Given the description of an element on the screen output the (x, y) to click on. 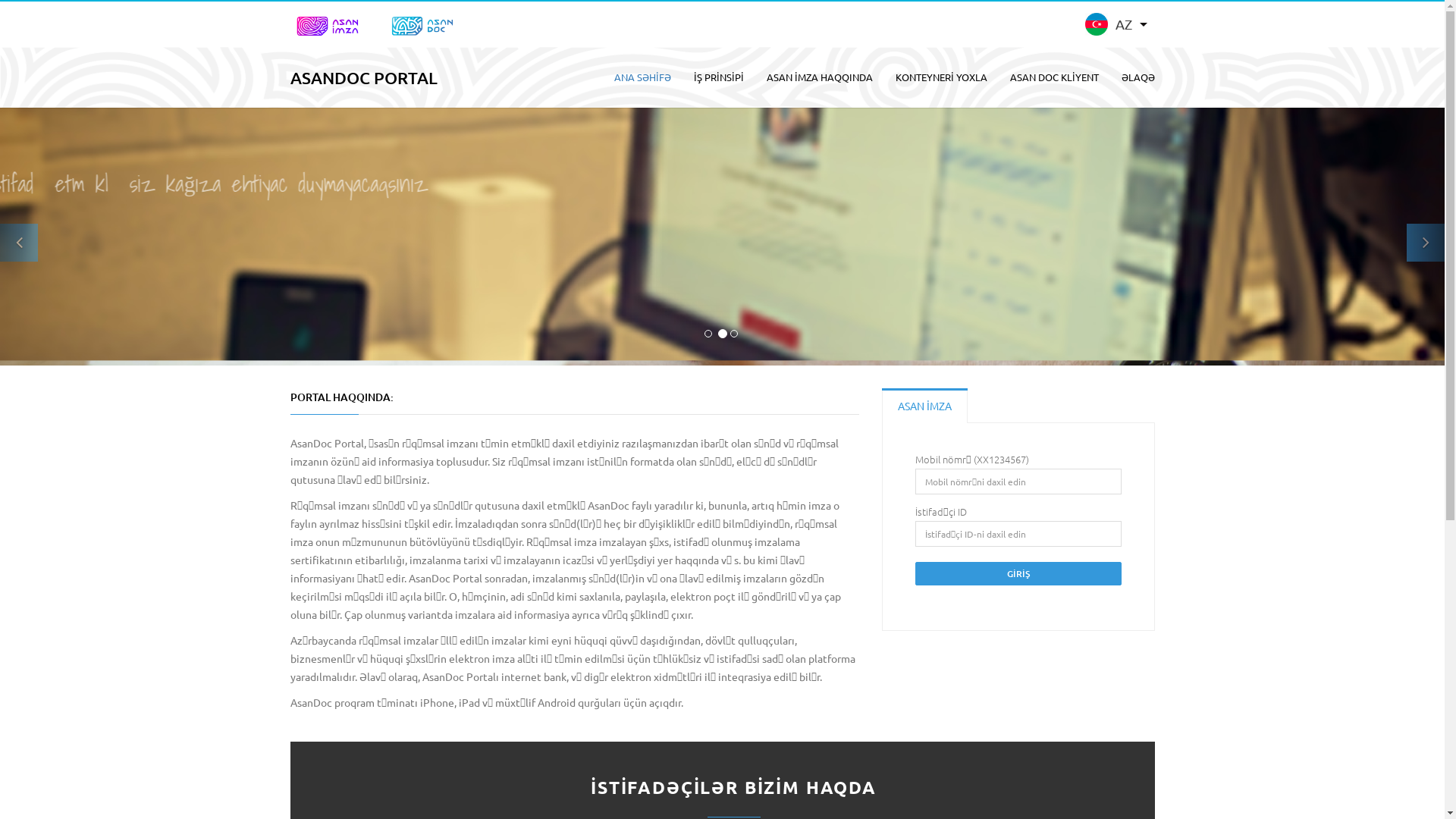
ASAN DOC KLIYENT Element type: text (1053, 77)
